Given the description of an element on the screen output the (x, y) to click on. 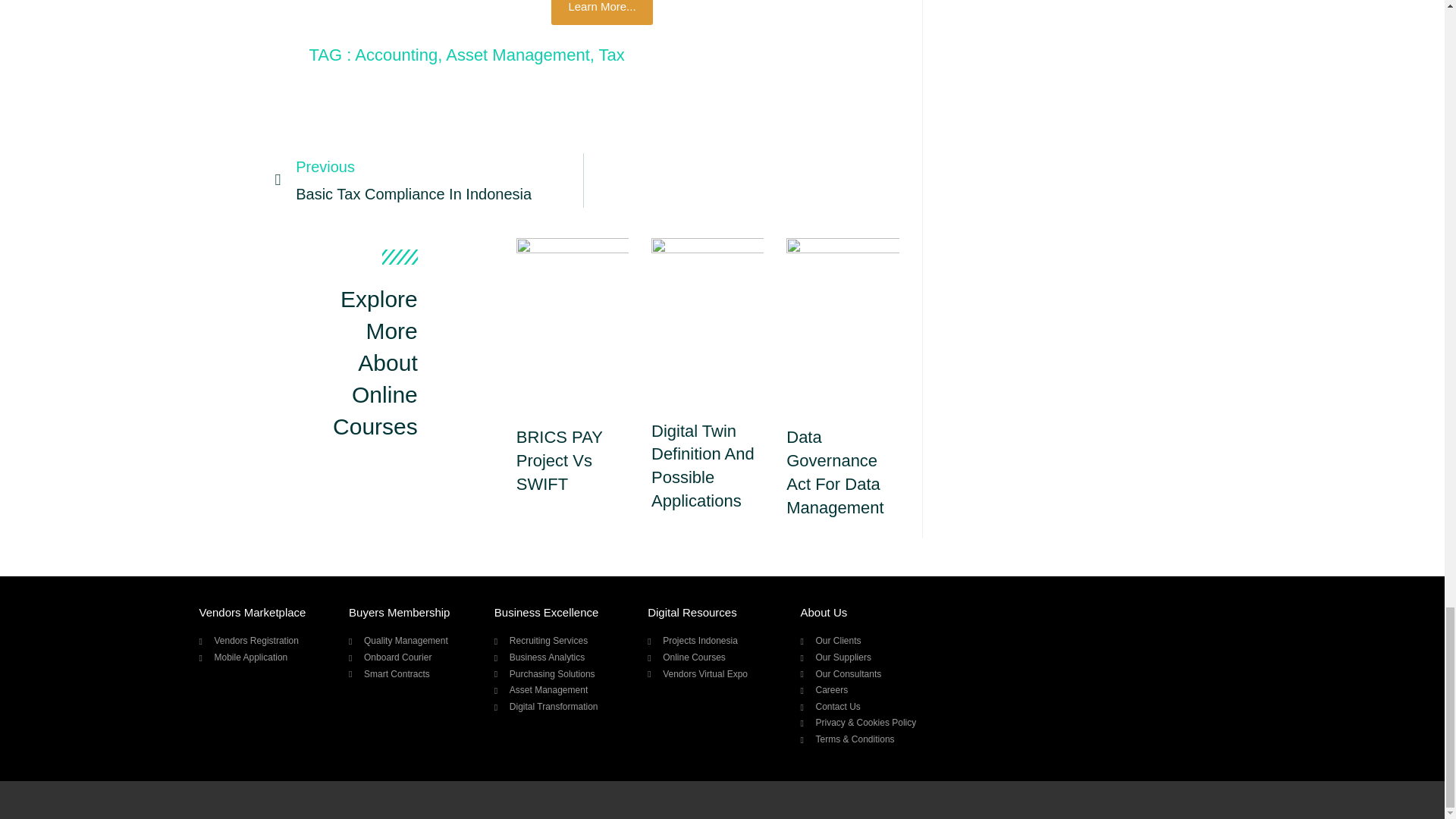
Learn More... (428, 180)
BRICS PAY Project Vs SWIFT (601, 12)
Digital Twin Definition And Possible Applications (559, 460)
Sampoerna Strategic Square (702, 465)
